Given the description of an element on the screen output the (x, y) to click on. 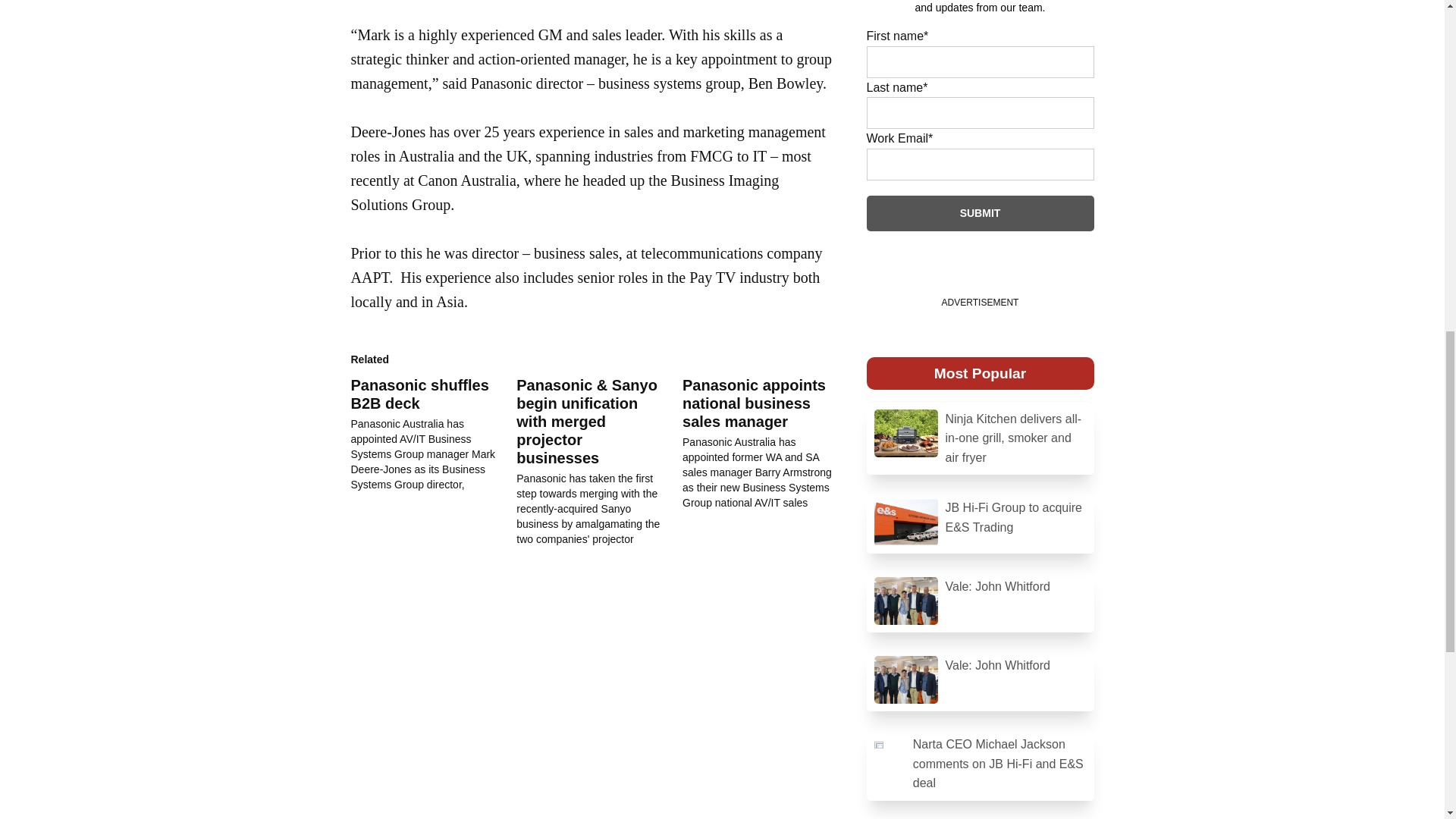
Panasonic shuffles B2B deck (418, 393)
Vale: John Whitford (979, 679)
Submit (979, 212)
Panasonic appoints national business sales manager (753, 402)
Panasonic appoints national business sales manager (765, 442)
Panasonic shuffles B2B deck (433, 433)
Vale: John Whitford (979, 600)
